Given the description of an element on the screen output the (x, y) to click on. 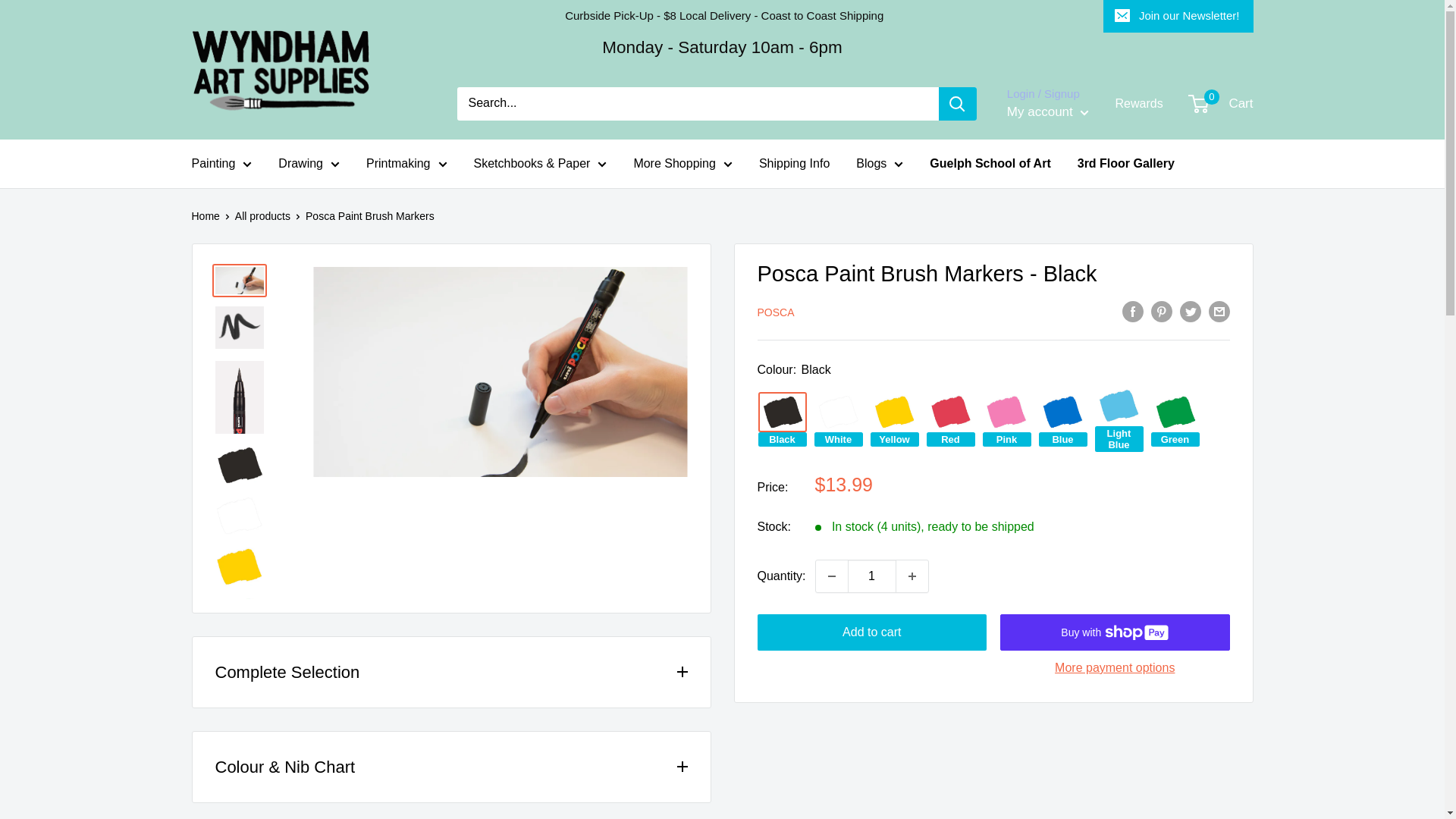
Blue (1063, 412)
Pink (1006, 412)
Black (782, 412)
Red (950, 412)
Light Blue (1118, 405)
Green (1175, 412)
Join our Newsletter! (1178, 15)
Increase quantity by 1 (912, 576)
1 (871, 576)
Yellow (894, 412)
Decrease quantity by 1 (831, 576)
White (838, 412)
